Given the description of an element on the screen output the (x, y) to click on. 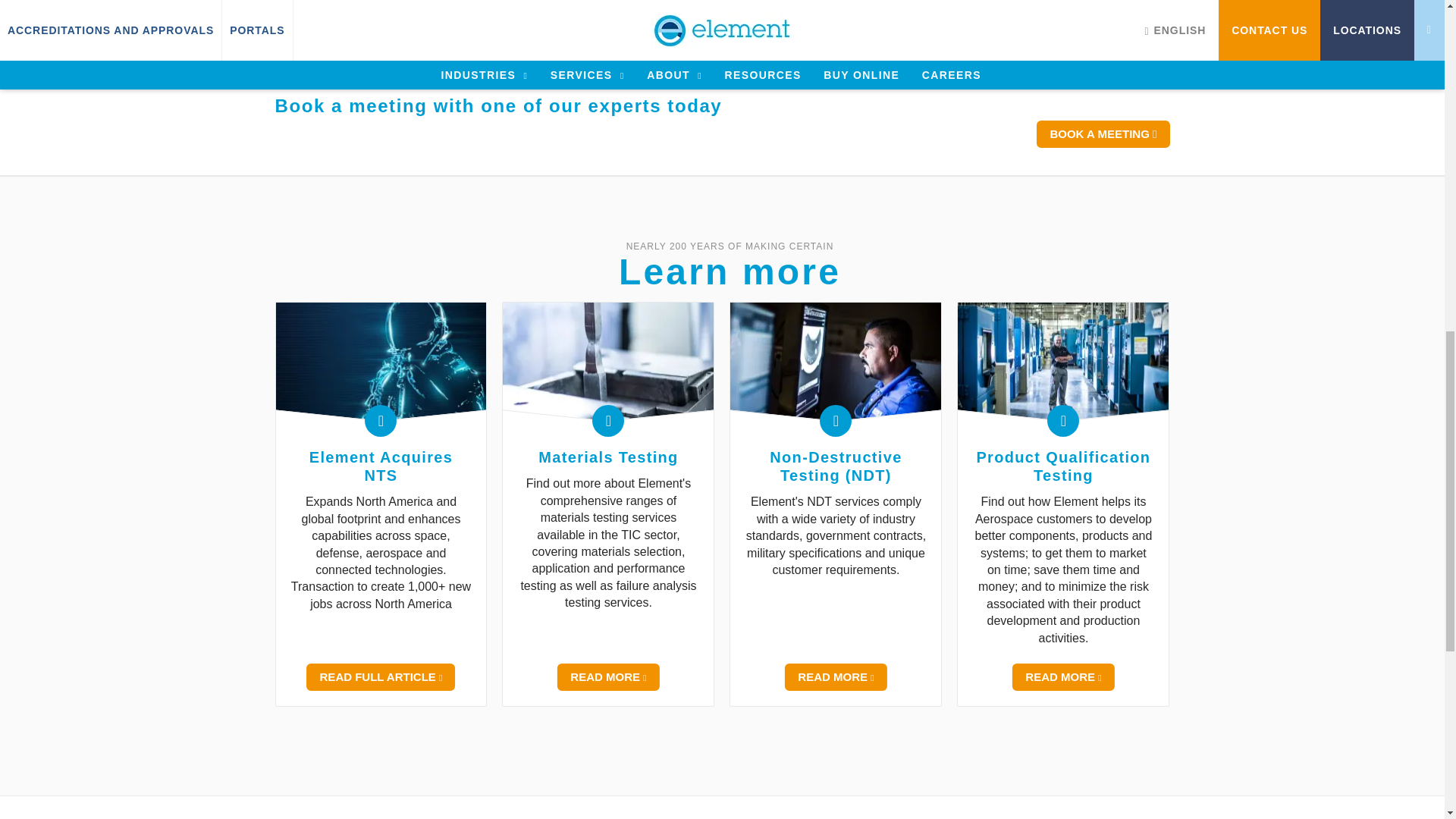
Book a Meeting (1102, 134)
